Given the description of an element on the screen output the (x, y) to click on. 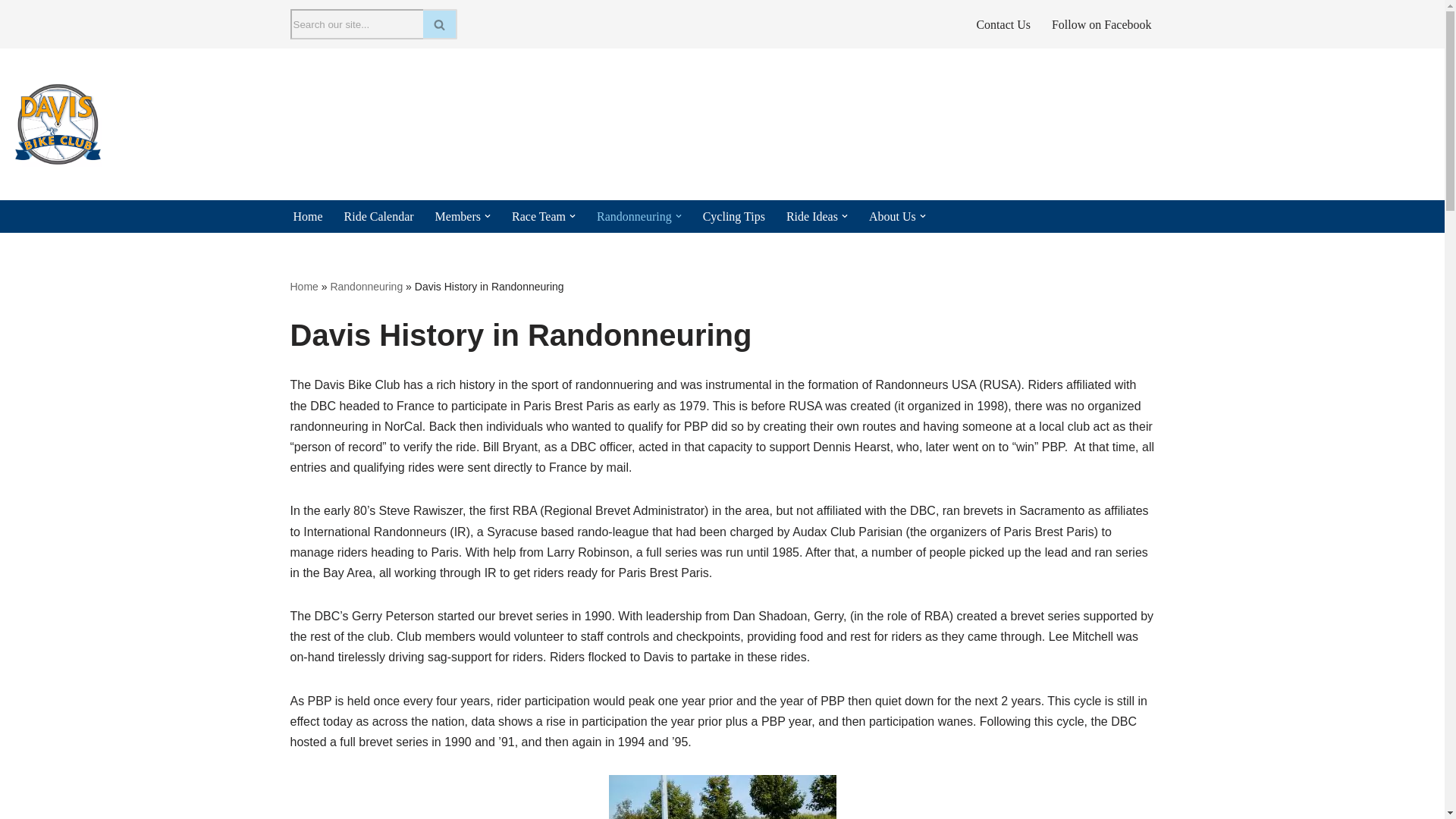
Ride Ideas (812, 216)
Randonneuring (633, 216)
Home (306, 216)
About Us (892, 216)
Contact Us (1002, 24)
Follow on Facebook (1101, 24)
Skip to content (11, 31)
Race Team (539, 216)
Members (457, 216)
Cycling Tips (734, 216)
